Given the description of an element on the screen output the (x, y) to click on. 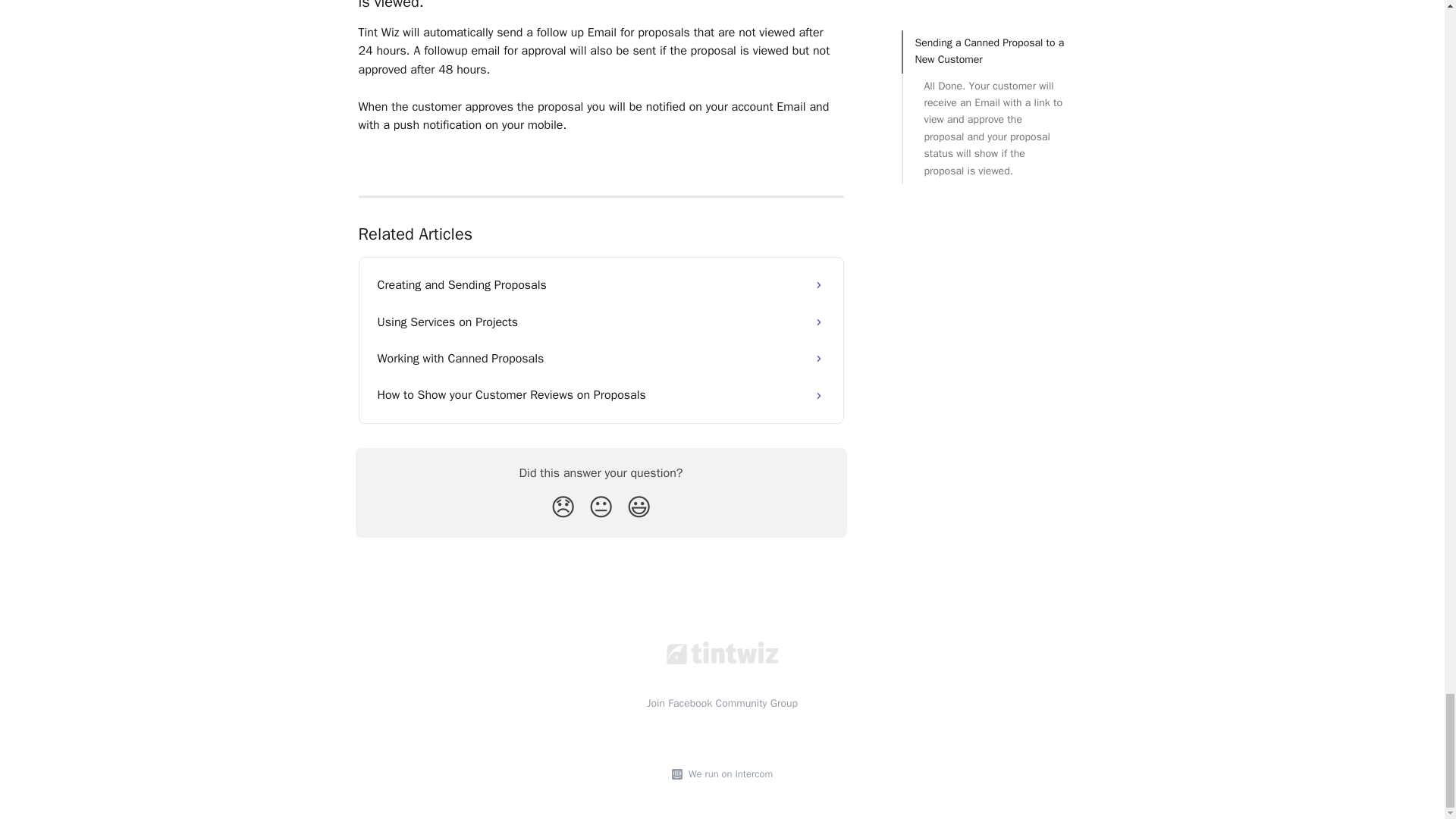
Working with Canned Proposals (601, 358)
Using Services on Projects (601, 321)
Neutral (600, 507)
Creating and Sending Proposals (601, 284)
How to Show your Customer Reviews on Proposals (601, 394)
Smiley (638, 507)
We run on Intercom (727, 774)
Join Facebook Community Group (721, 703)
Disappointed (562, 507)
